Given the description of an element on the screen output the (x, y) to click on. 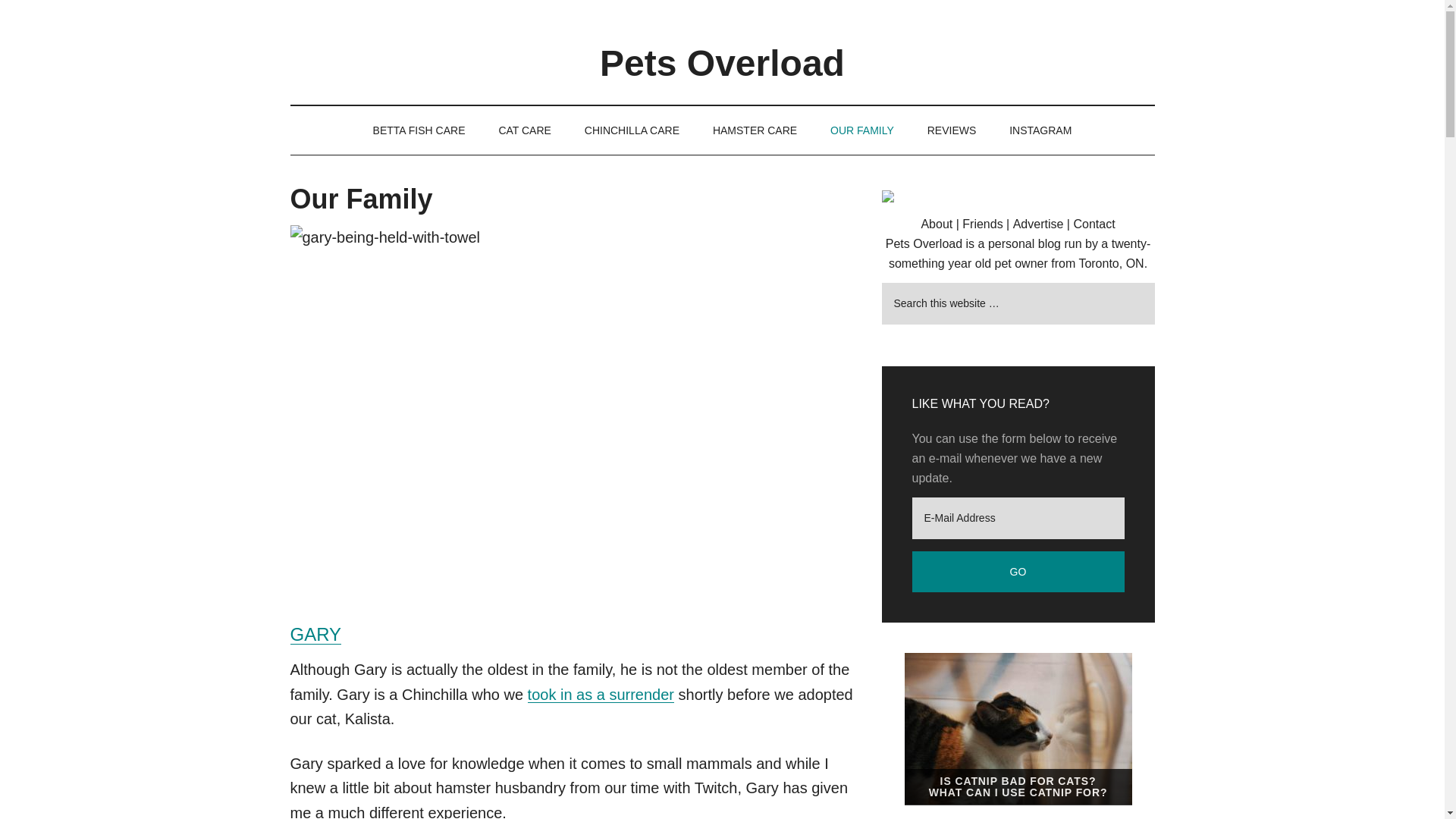
Go (1017, 571)
GARY (314, 634)
took in as a surrender (600, 694)
INSTAGRAM (1040, 130)
REVIEWS (951, 130)
CAT CARE (524, 130)
HAMSTER CARE (754, 130)
CHINCHILLA CARE (631, 130)
OUR FAMILY (861, 130)
BETTA FISH CARE (419, 130)
Pets Overload (721, 63)
